Given the description of an element on the screen output the (x, y) to click on. 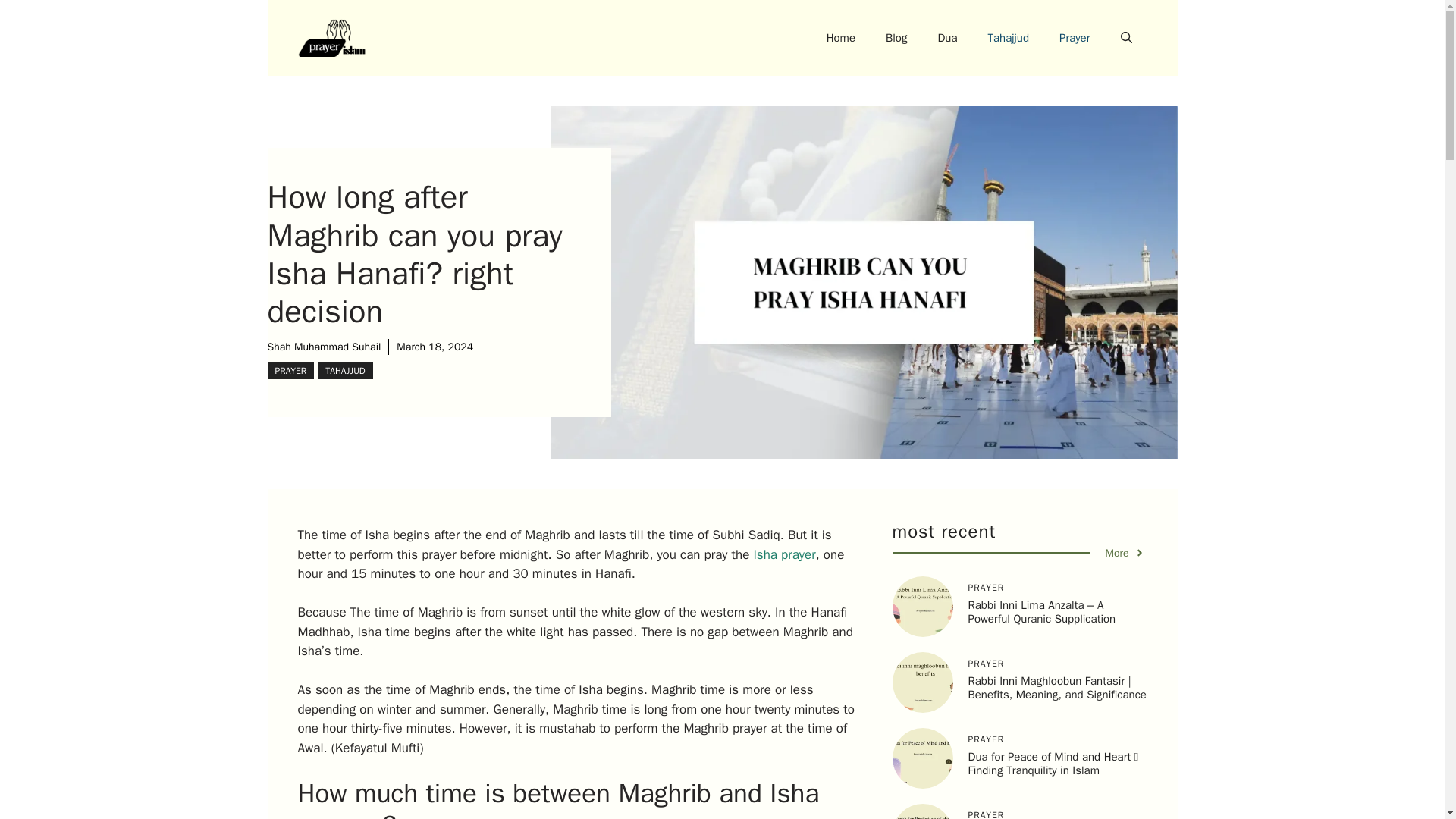
PRAYER (290, 370)
Isha prayer (783, 553)
More (1124, 553)
TAHAJJUD (344, 370)
Tahajjud (1008, 37)
Blog (895, 37)
Dua (946, 37)
Shah Muhammad Suhail (323, 346)
Home (840, 37)
Prayer (1074, 37)
